Given the description of an element on the screen output the (x, y) to click on. 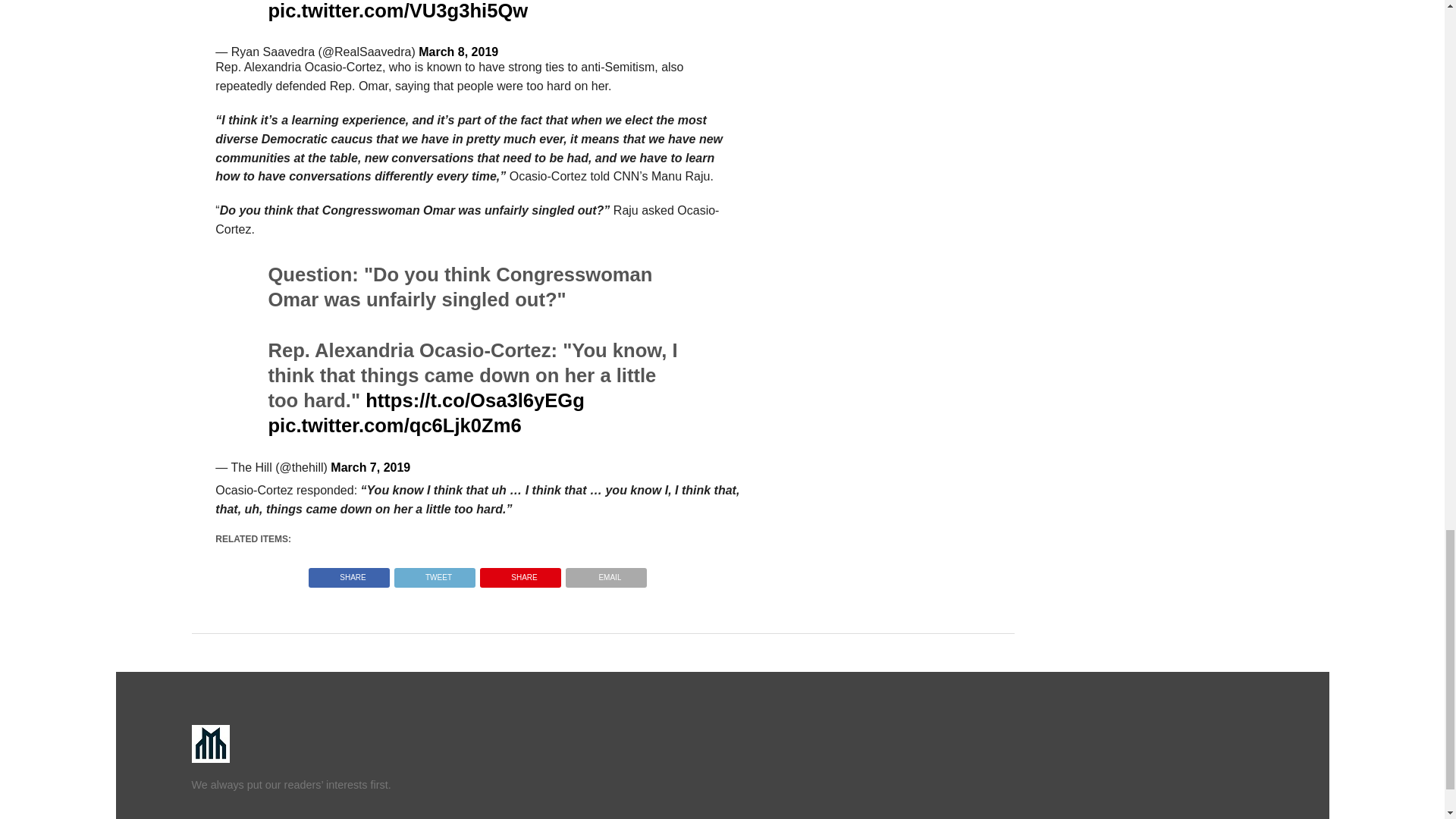
March 8, 2019 (458, 51)
EMAIL (605, 573)
SHARE (349, 573)
March 7, 2019 (370, 467)
TWEET (434, 573)
SHARE (520, 573)
Share on Facebook (349, 573)
